Given the description of an element on the screen output the (x, y) to click on. 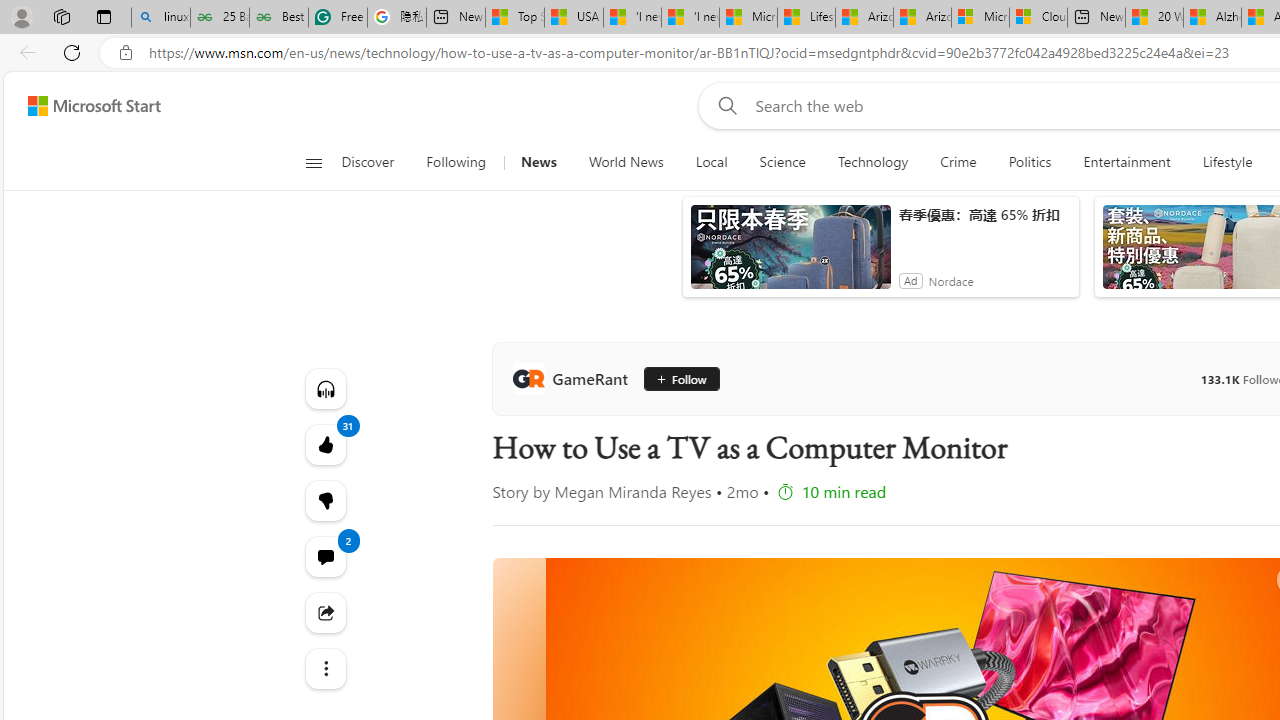
Share this story (324, 612)
Class: button-glyph (313, 162)
Free AI Writing Assistance for Students | Grammarly (337, 17)
Local (711, 162)
Crime (957, 162)
Cloud Computing Services | Microsoft Azure (1038, 17)
Skip to footer (82, 105)
Technology (872, 162)
Discover (375, 162)
Microsoft Services Agreement (980, 17)
25 Basic Linux Commands For Beginners - GeeksforGeeks (219, 17)
Local (710, 162)
Science (782, 162)
